Given the description of an element on the screen output the (x, y) to click on. 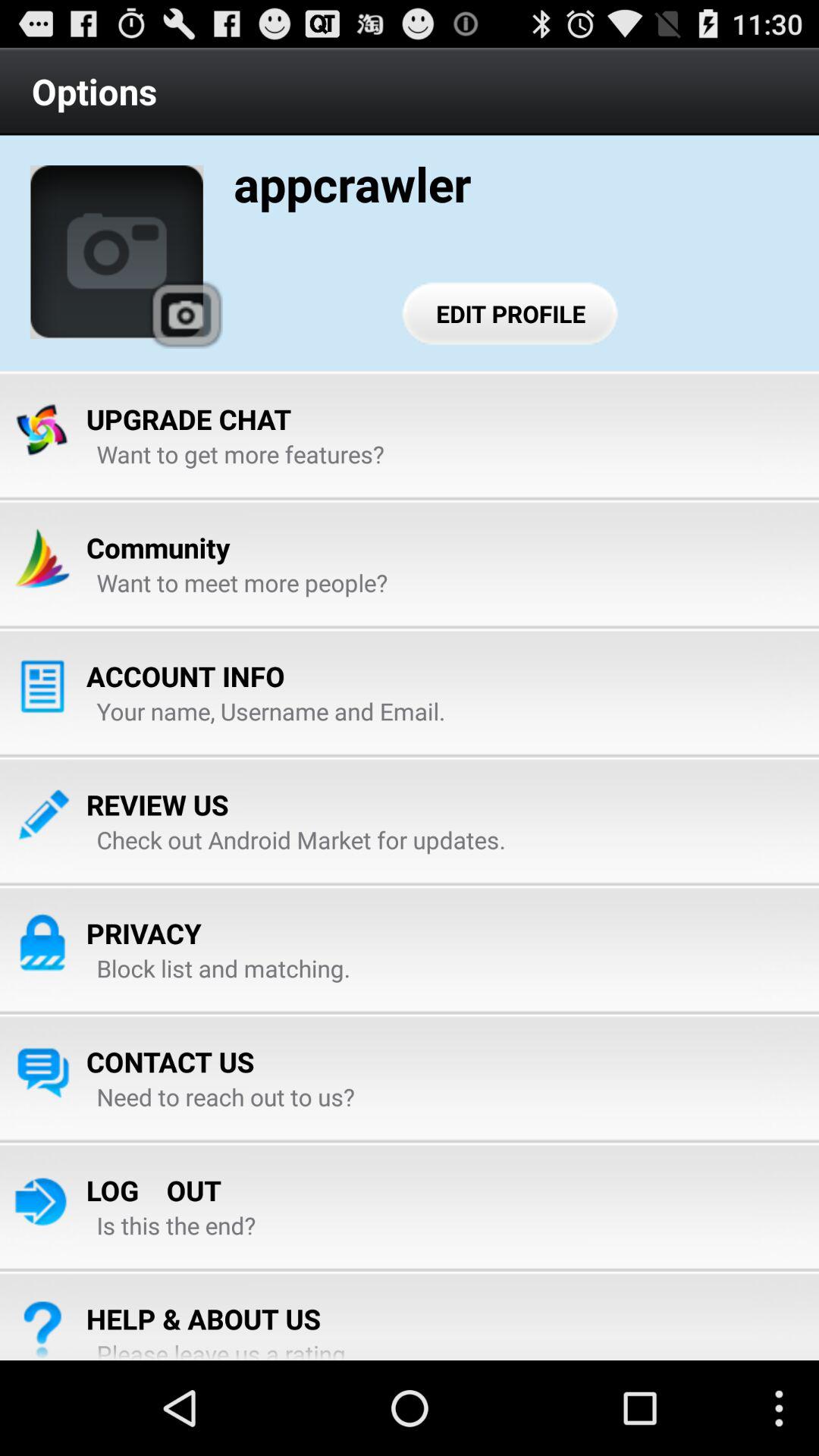
add profile picture (116, 251)
